Given the description of an element on the screen output the (x, y) to click on. 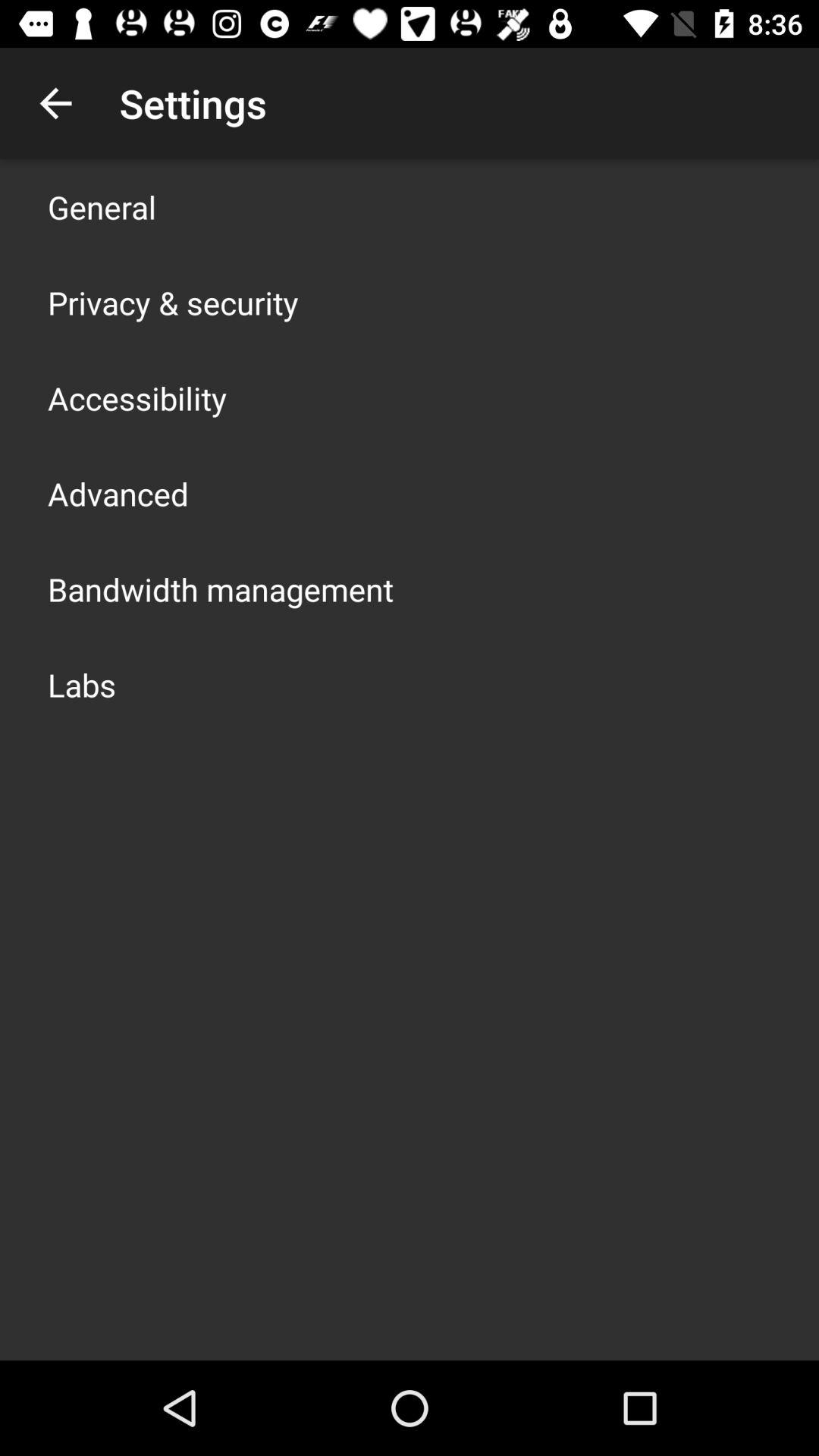
choose app above the privacy & security icon (101, 206)
